Given the description of an element on the screen output the (x, y) to click on. 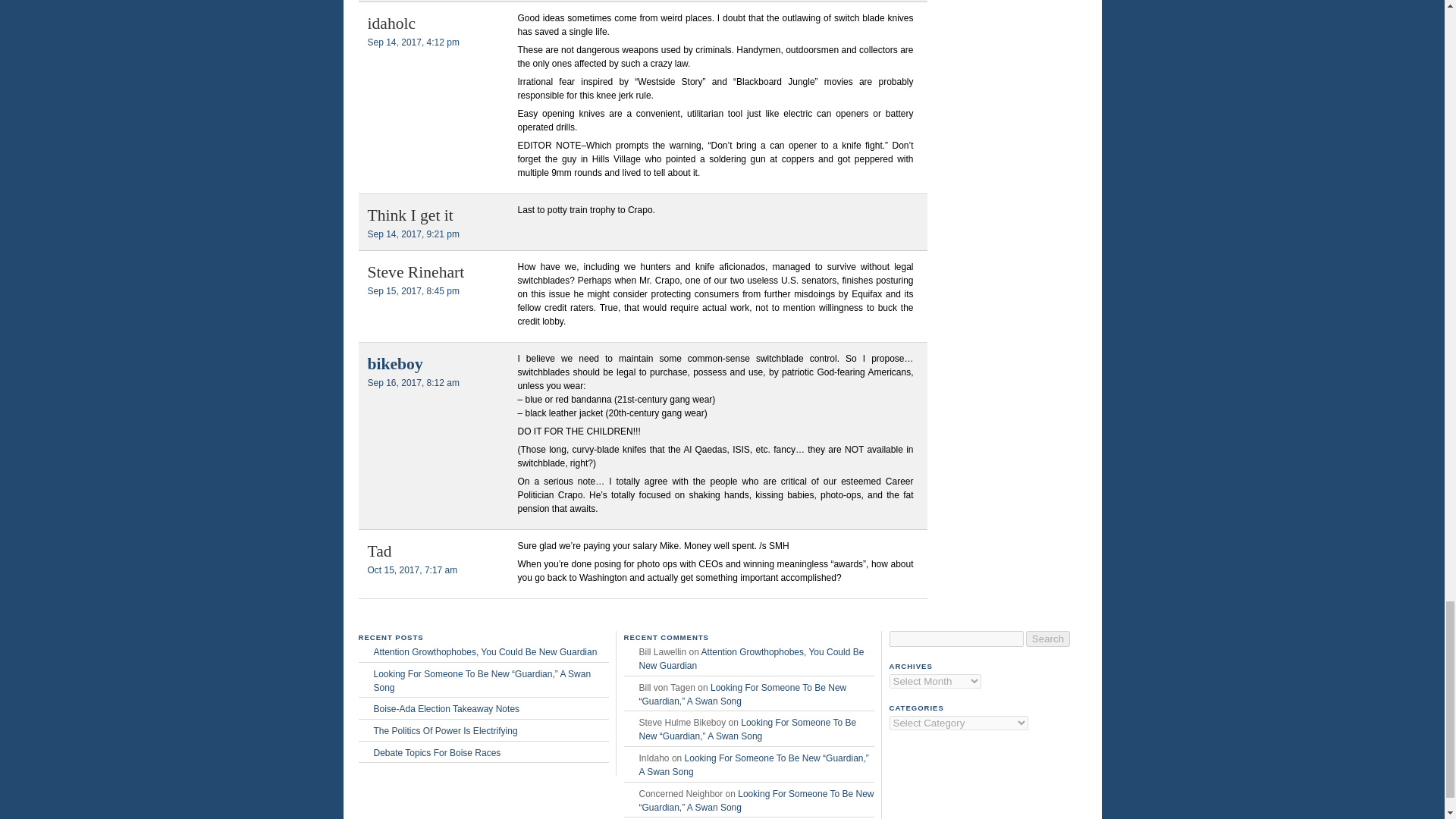
Sep 16, 2017, 8:12 am (412, 382)
Sep 14, 2017, 9:21 pm (412, 234)
Oct 15, 2017, 7:17 am (411, 570)
bikeboy (394, 363)
Search (1048, 638)
Sep 14, 2017, 4:12 pm (412, 41)
Sep 15, 2017, 8:45 pm (412, 290)
